Given the description of an element on the screen output the (x, y) to click on. 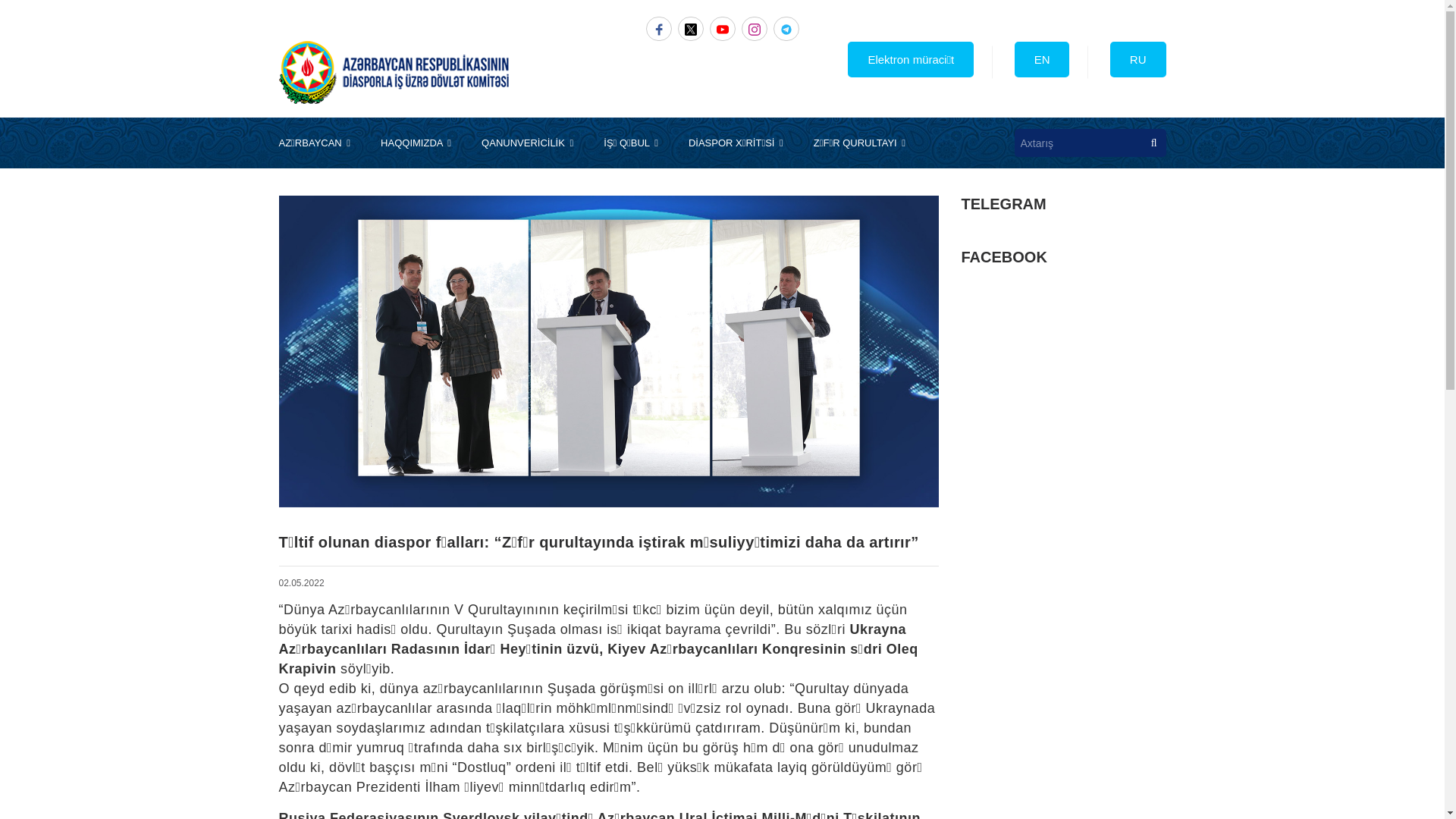
EN Element type: text (1042, 59)
RU Element type: text (1138, 59)
HAQQIMIZDA Element type: text (415, 142)
